Given the description of an element on the screen output the (x, y) to click on. 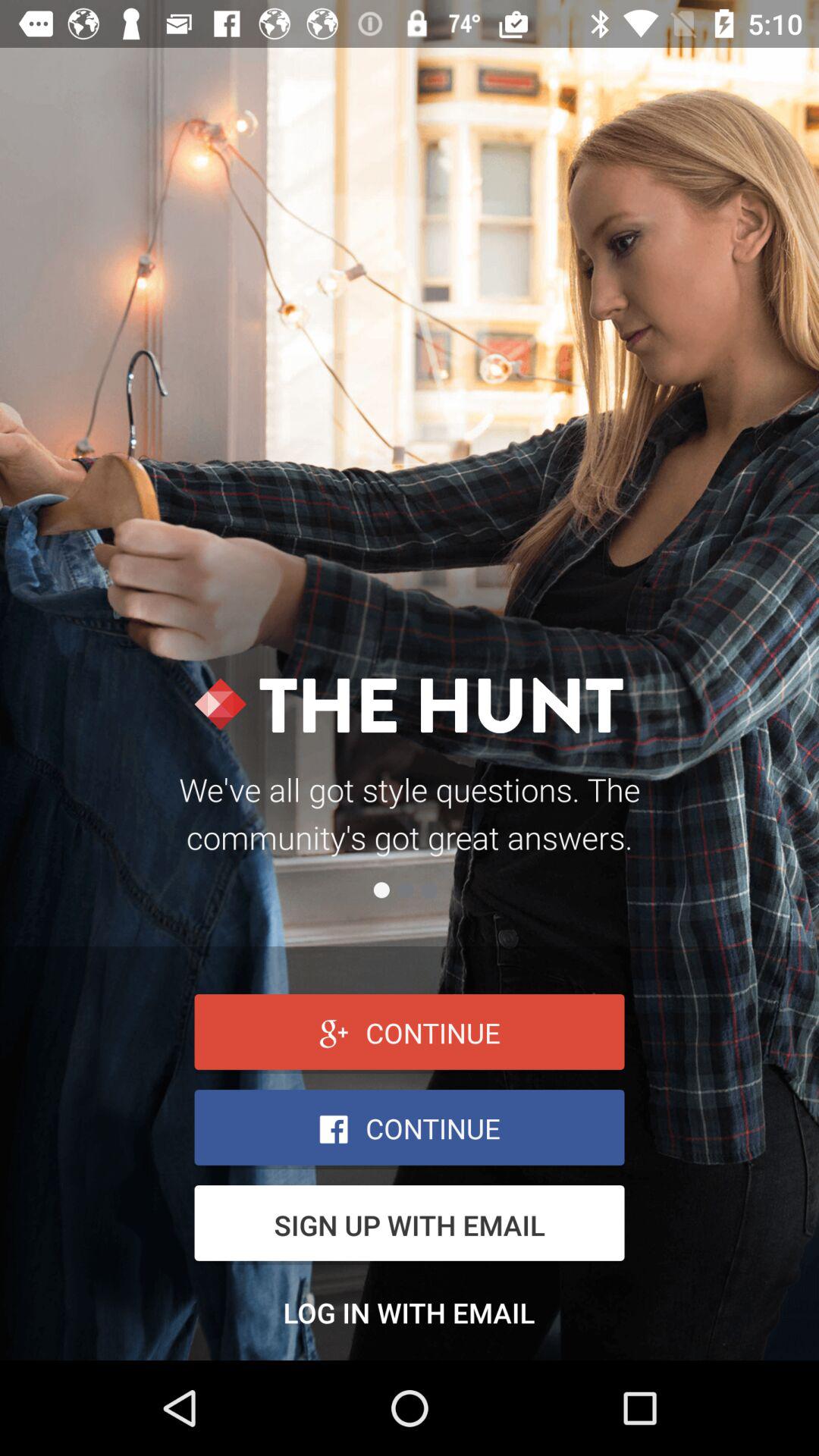
go to facebook (409, 1129)
